Given the description of an element on the screen output the (x, y) to click on. 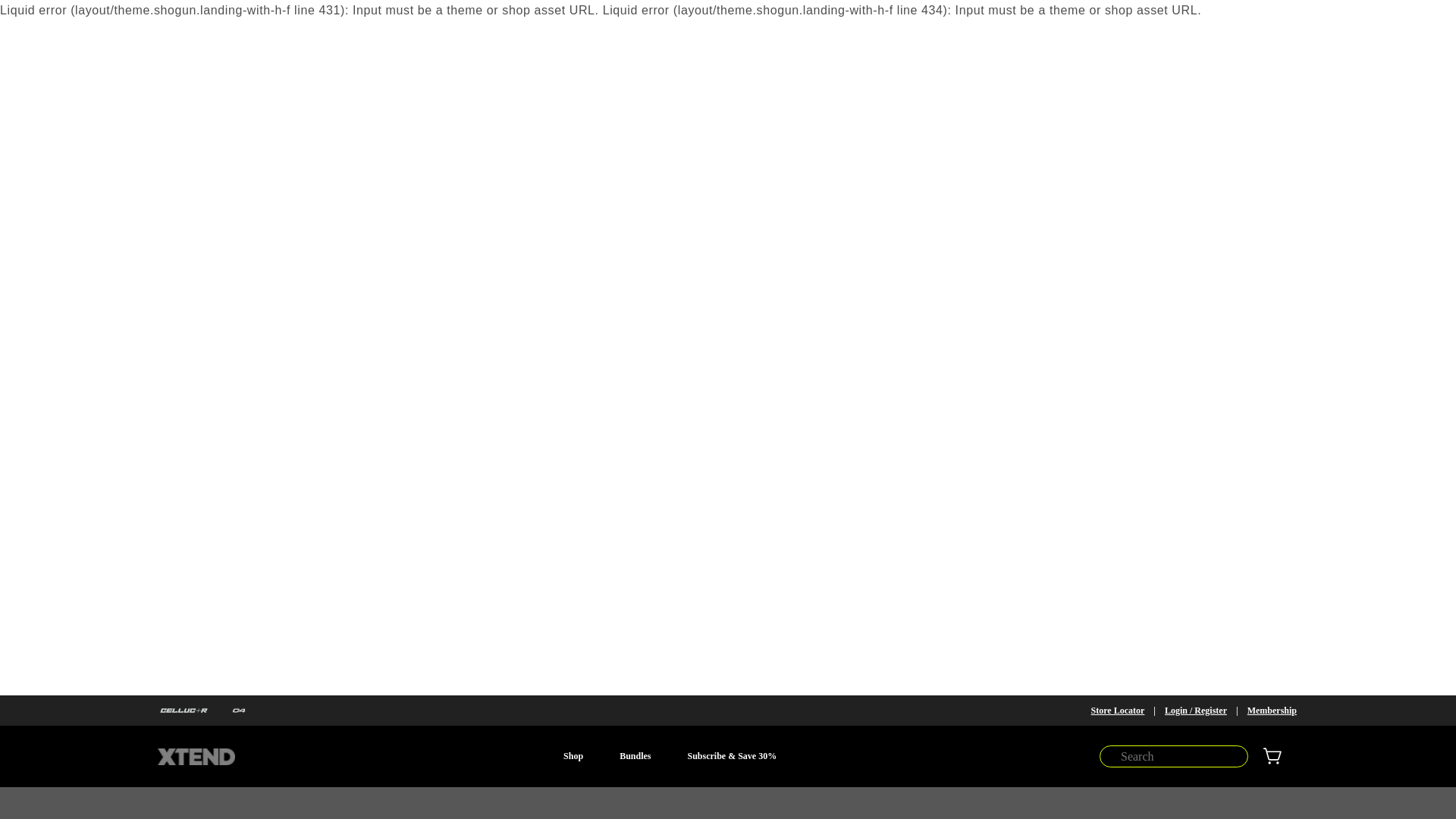
SKIP TO CONTENT (45, 17)
Shop (572, 756)
Membership (1272, 710)
Store Locator (1117, 710)
Bundles (634, 756)
